Given the description of an element on the screen output the (x, y) to click on. 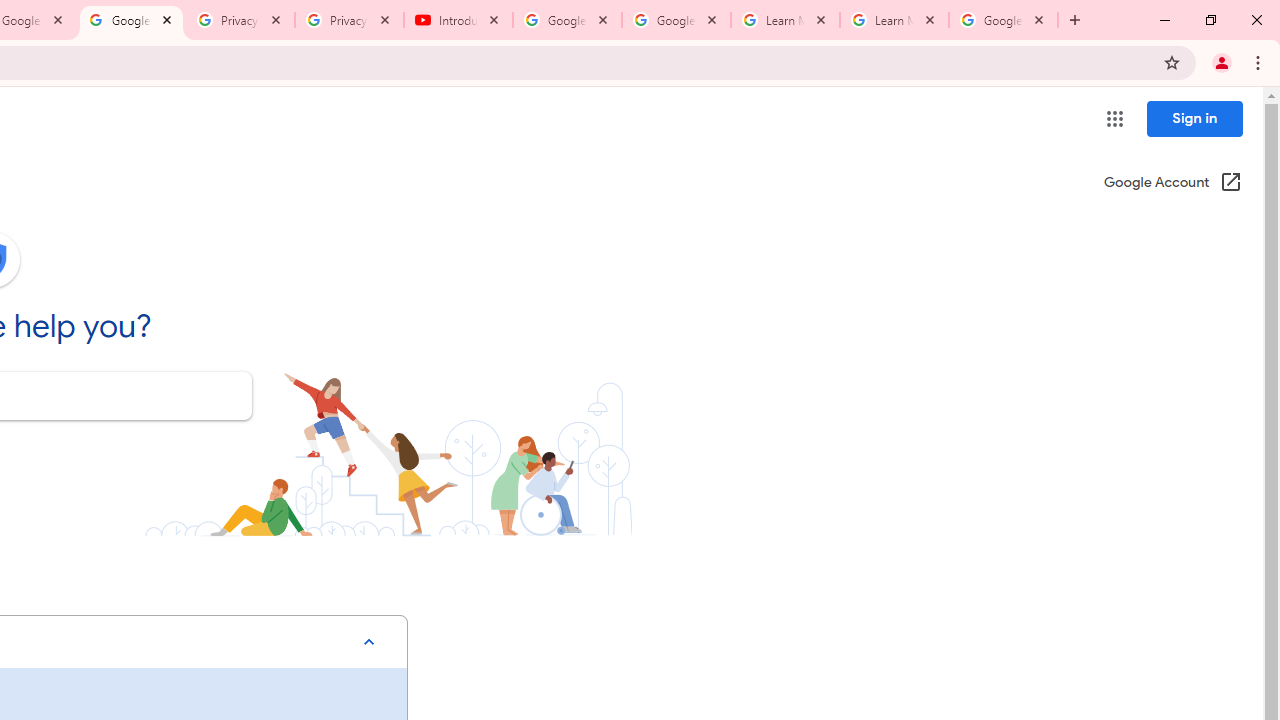
Introduction | Google Privacy Policy - YouTube (458, 20)
Google Account Help (130, 20)
Google Account (Open in a new window) (1172, 183)
